Given the description of an element on the screen output the (x, y) to click on. 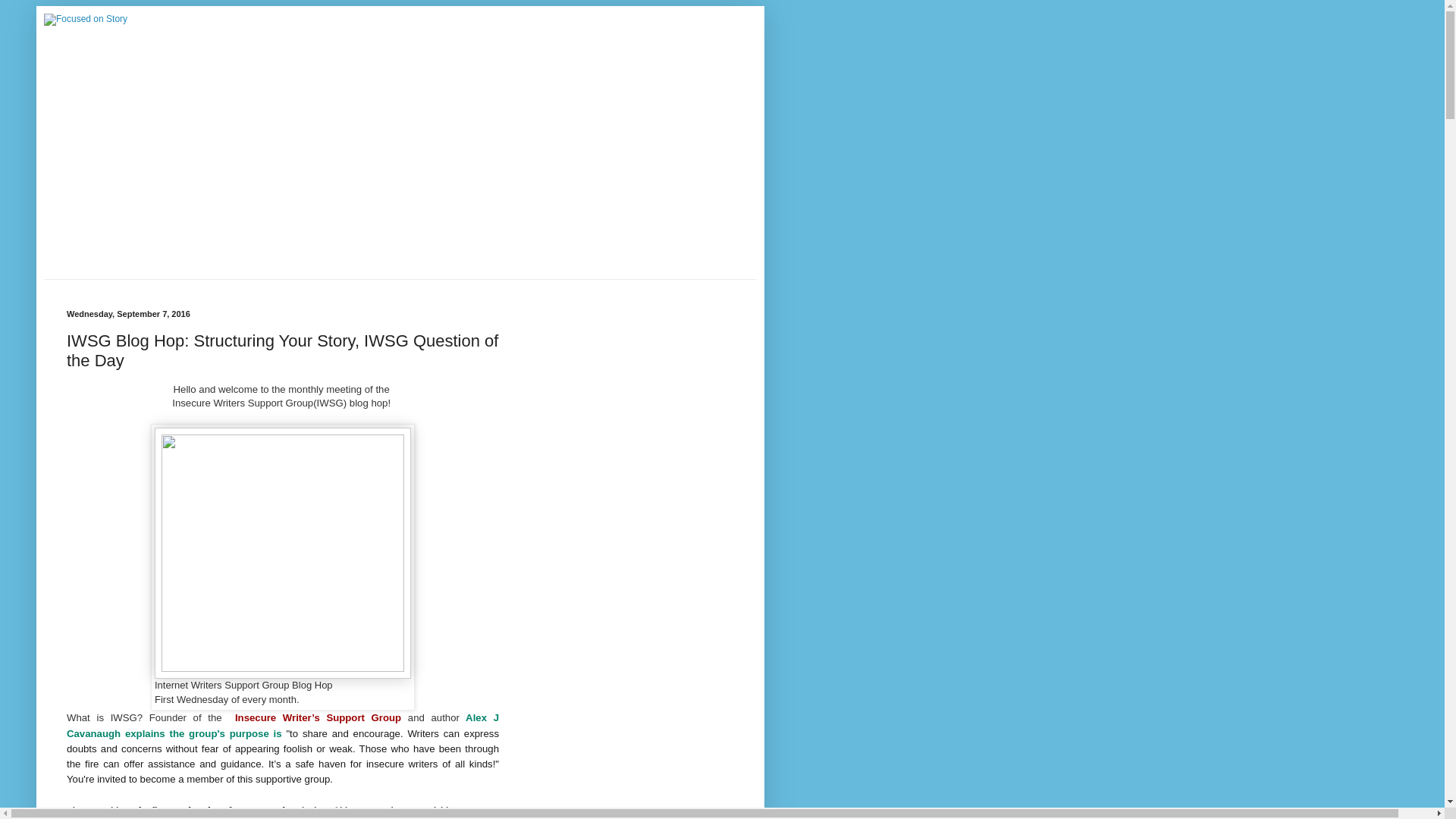
Alex J Cavanaugh explains the group's purpose is (282, 725)
